Given the description of an element on the screen output the (x, y) to click on. 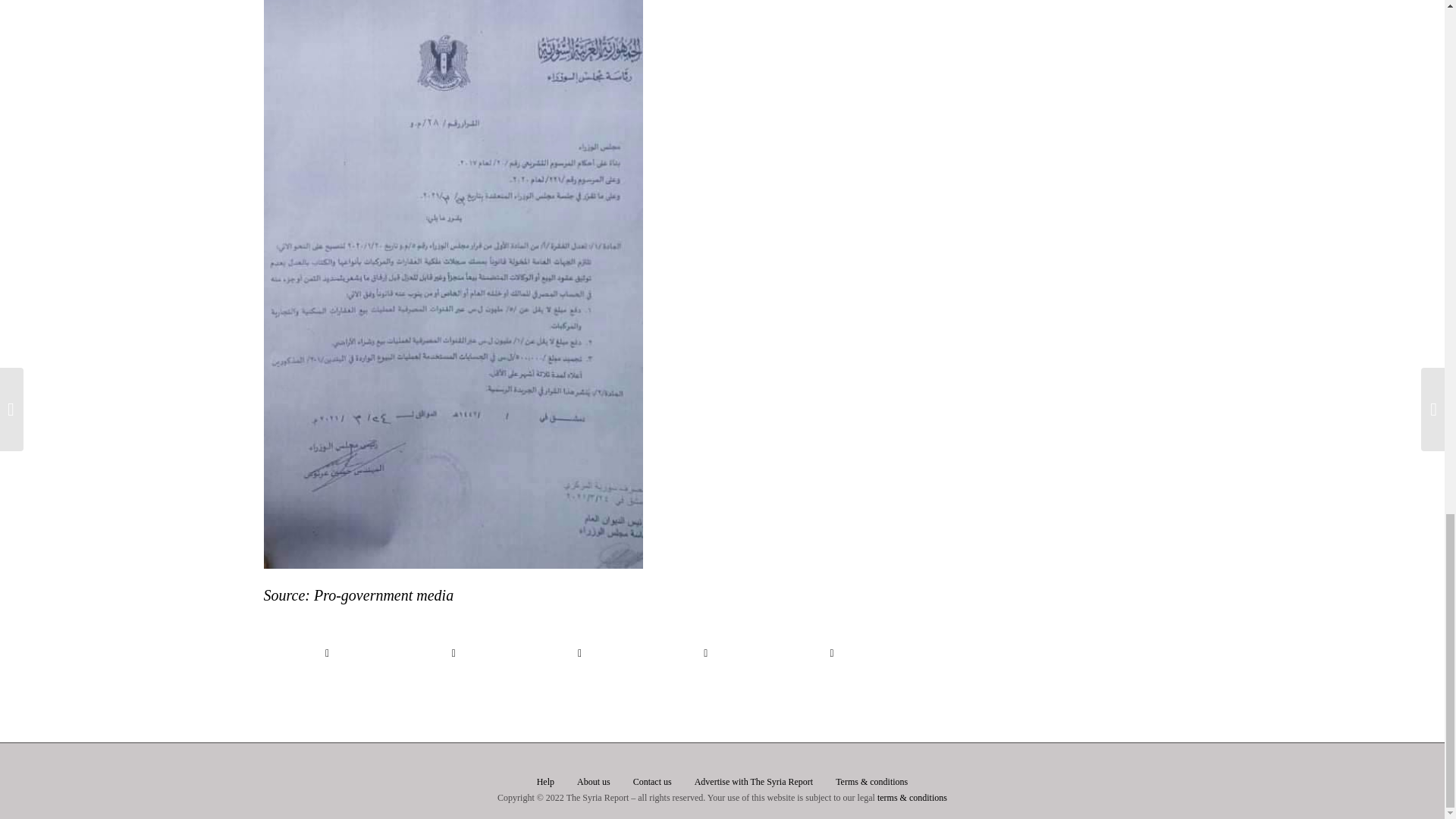
Contact us (651, 781)
Help (545, 781)
About us (593, 781)
Advertise with The Syria Report (753, 781)
